Given the description of an element on the screen output the (x, y) to click on. 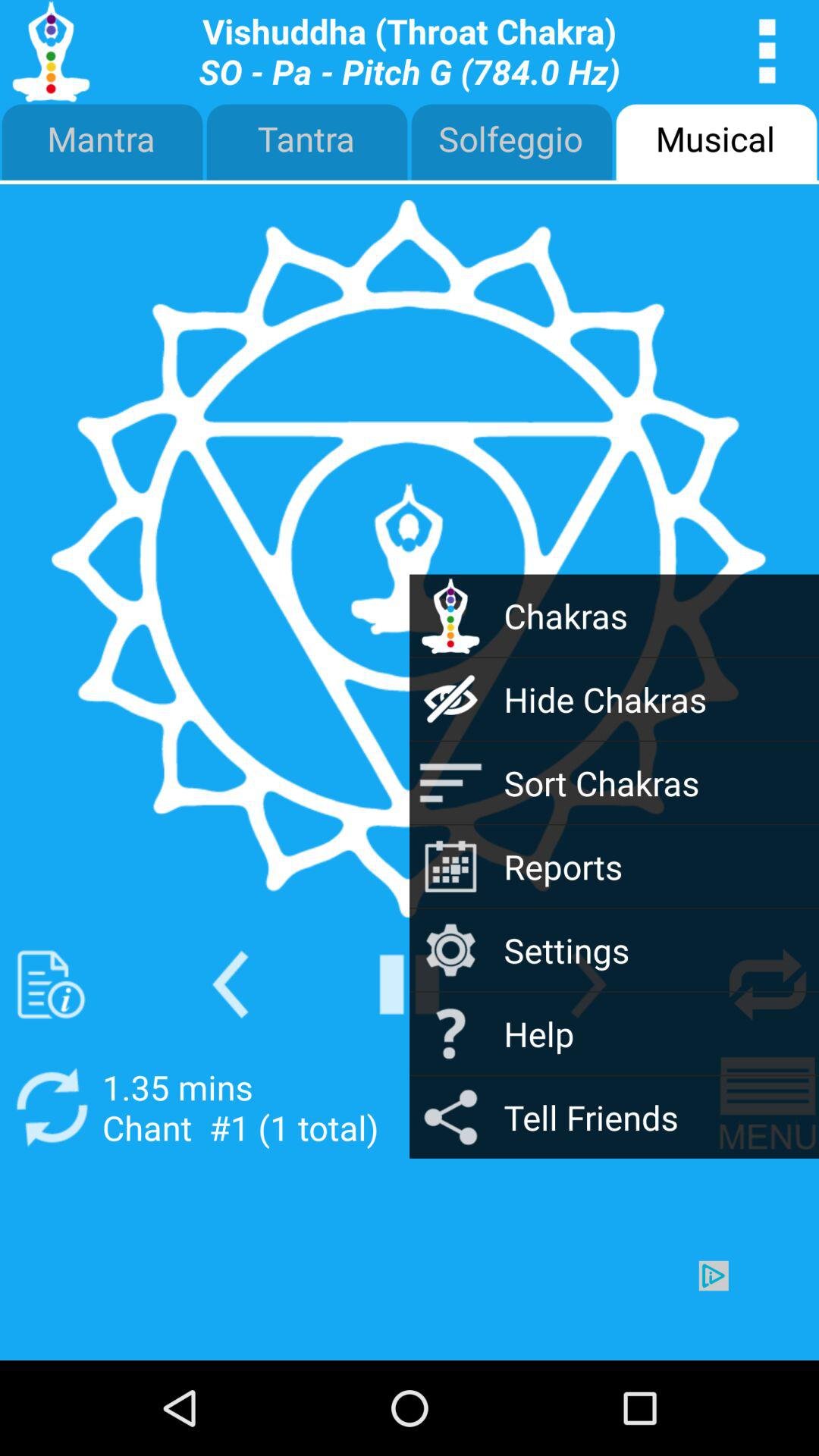
privious arrow (230, 984)
